Given the description of an element on the screen output the (x, y) to click on. 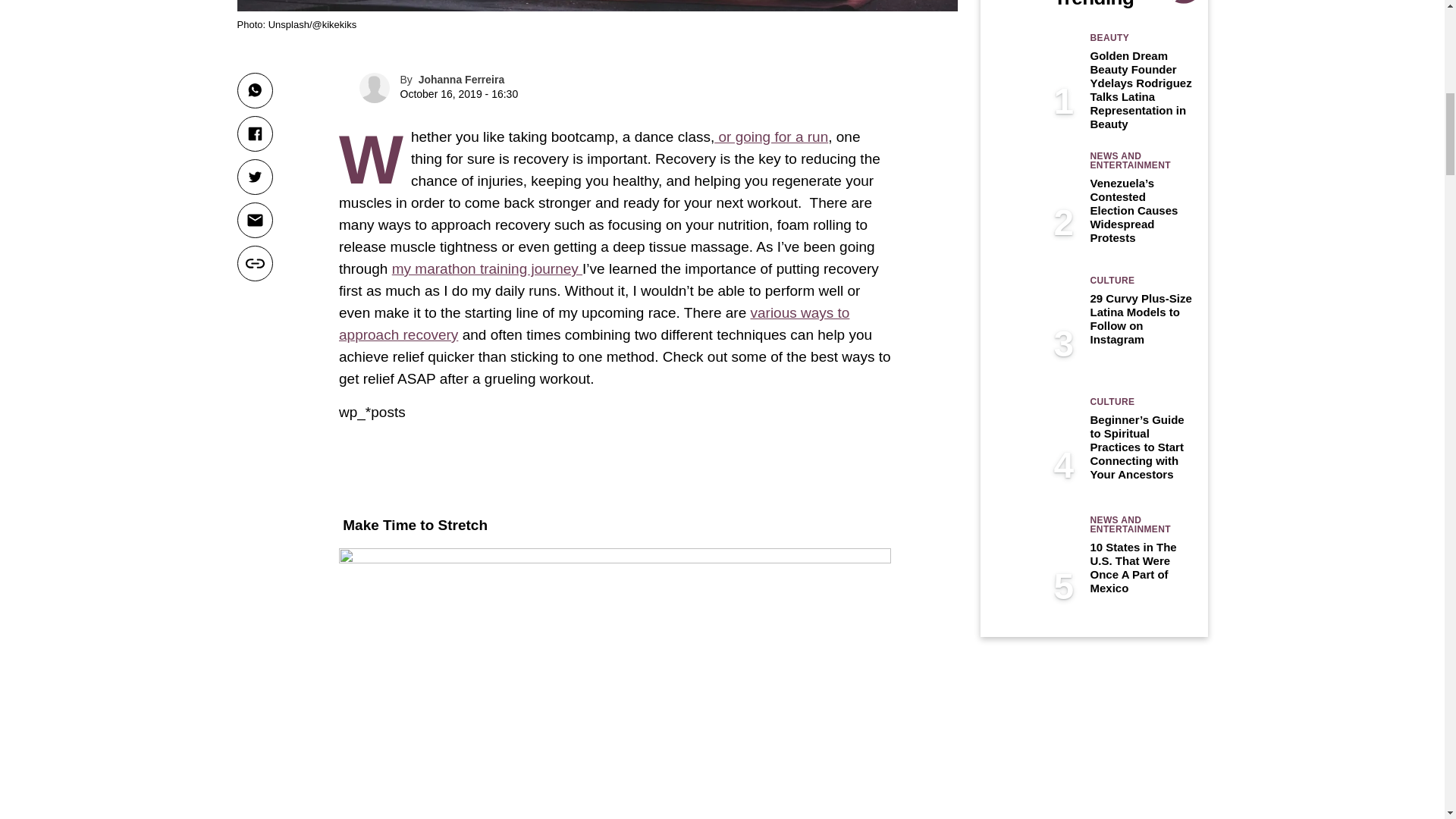
my marathon training journey (486, 268)
Share this article on Facebook (253, 133)
or going for a run (771, 136)
Share this article on WhatsApp (253, 90)
various ways to approach recovery (593, 323)
Johanna Ferreira (462, 79)
Share this article on Twitter (253, 176)
